Given the description of an element on the screen output the (x, y) to click on. 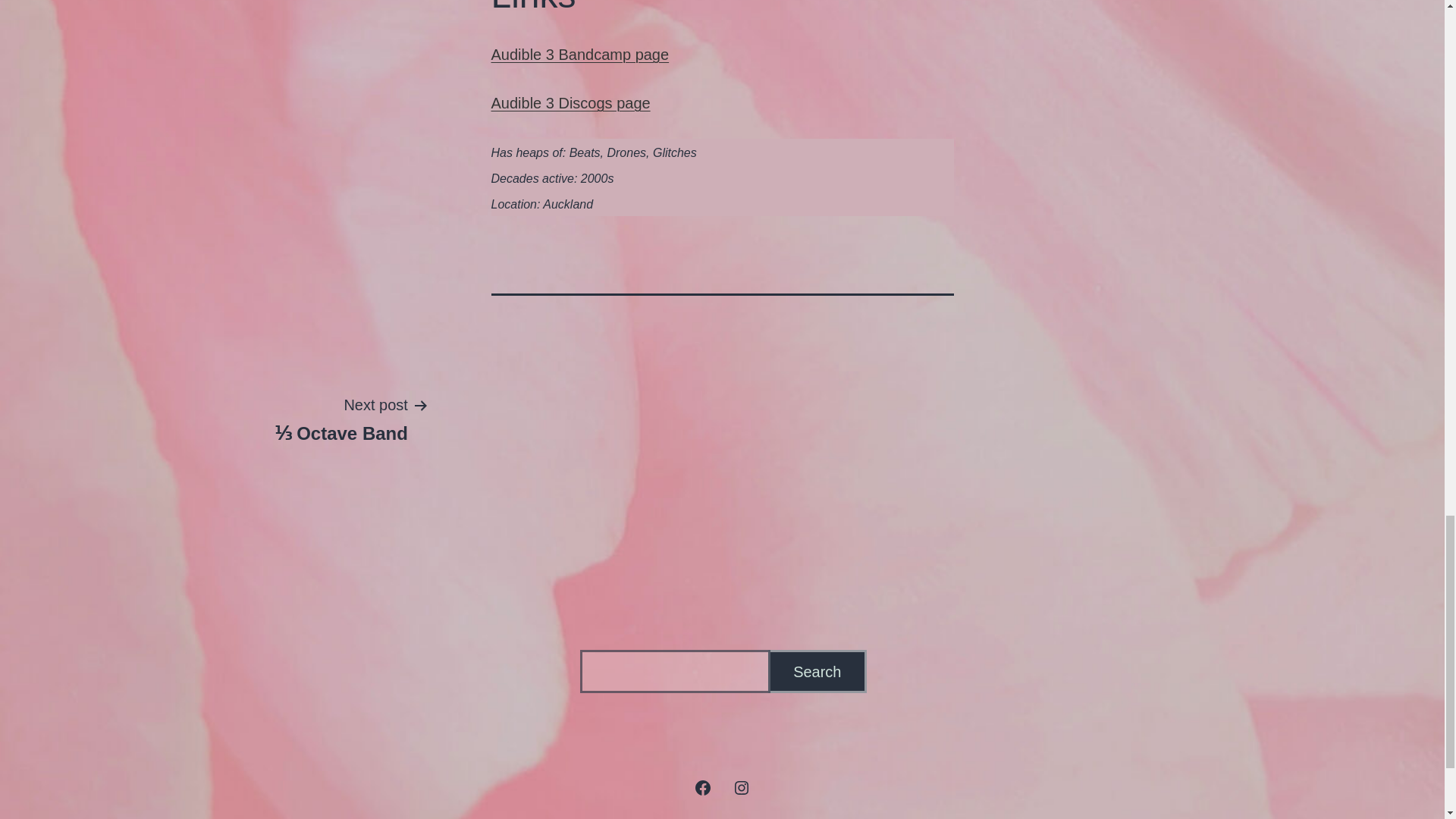
Search (817, 671)
Instagram (741, 786)
Audible 3 Discogs page (571, 103)
Audible 3 Bandcamp page (580, 54)
Facebook (703, 786)
